Given the description of an element on the screen output the (x, y) to click on. 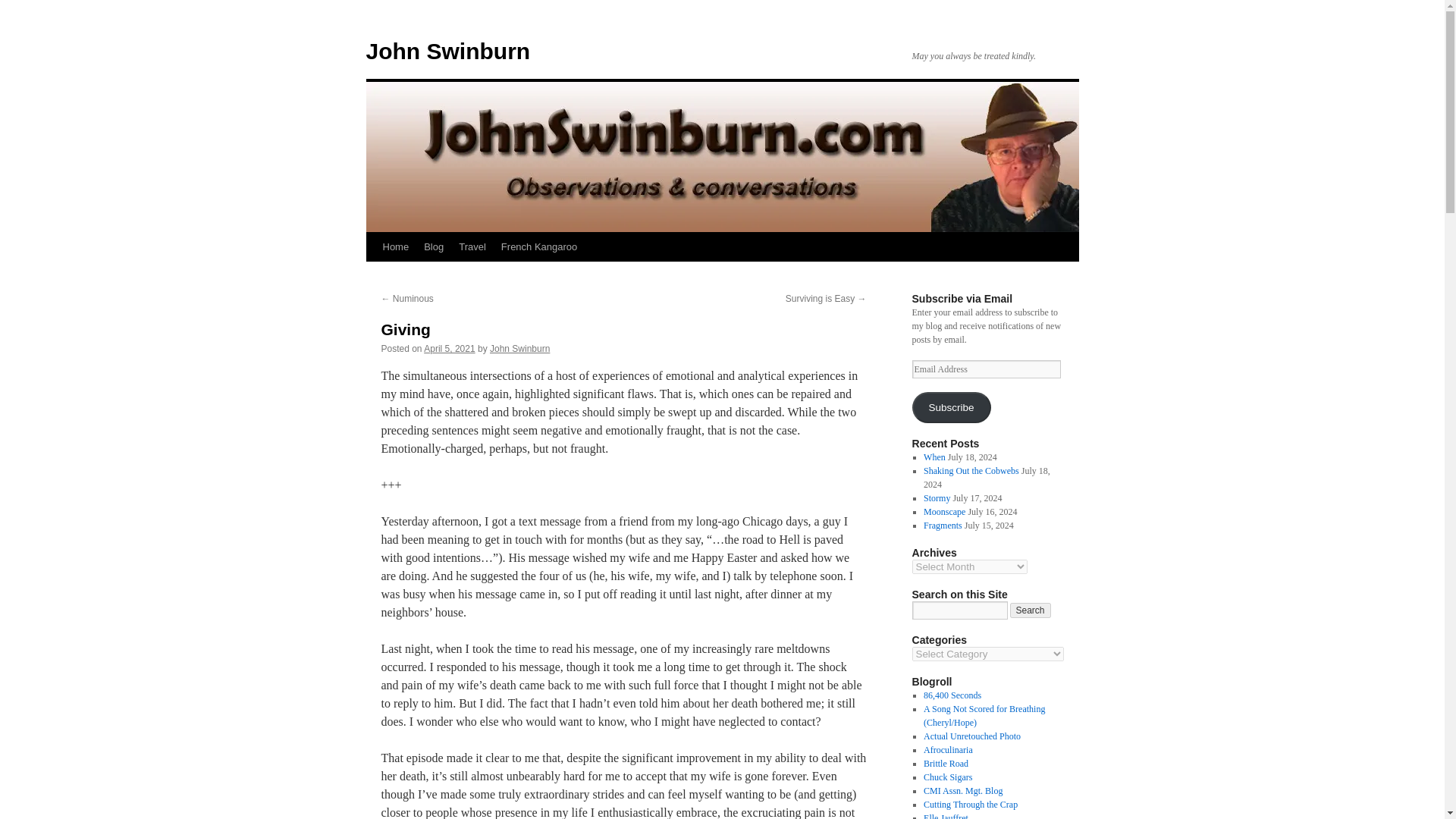
Afroculinaria (947, 749)
Blog (433, 246)
John Swinburn (519, 348)
Actual Unretouched Photo (971, 736)
86,400 Seconds (952, 695)
Search (1030, 610)
Brittle Road (945, 763)
Shaking Out the Cobwebs (971, 470)
View all posts by John Swinburn (519, 348)
Moonscape (944, 511)
Stormy (936, 498)
John Swinburn (447, 50)
Search (1030, 610)
Home (395, 246)
Subscribe (950, 407)
